Given the description of an element on the screen output the (x, y) to click on. 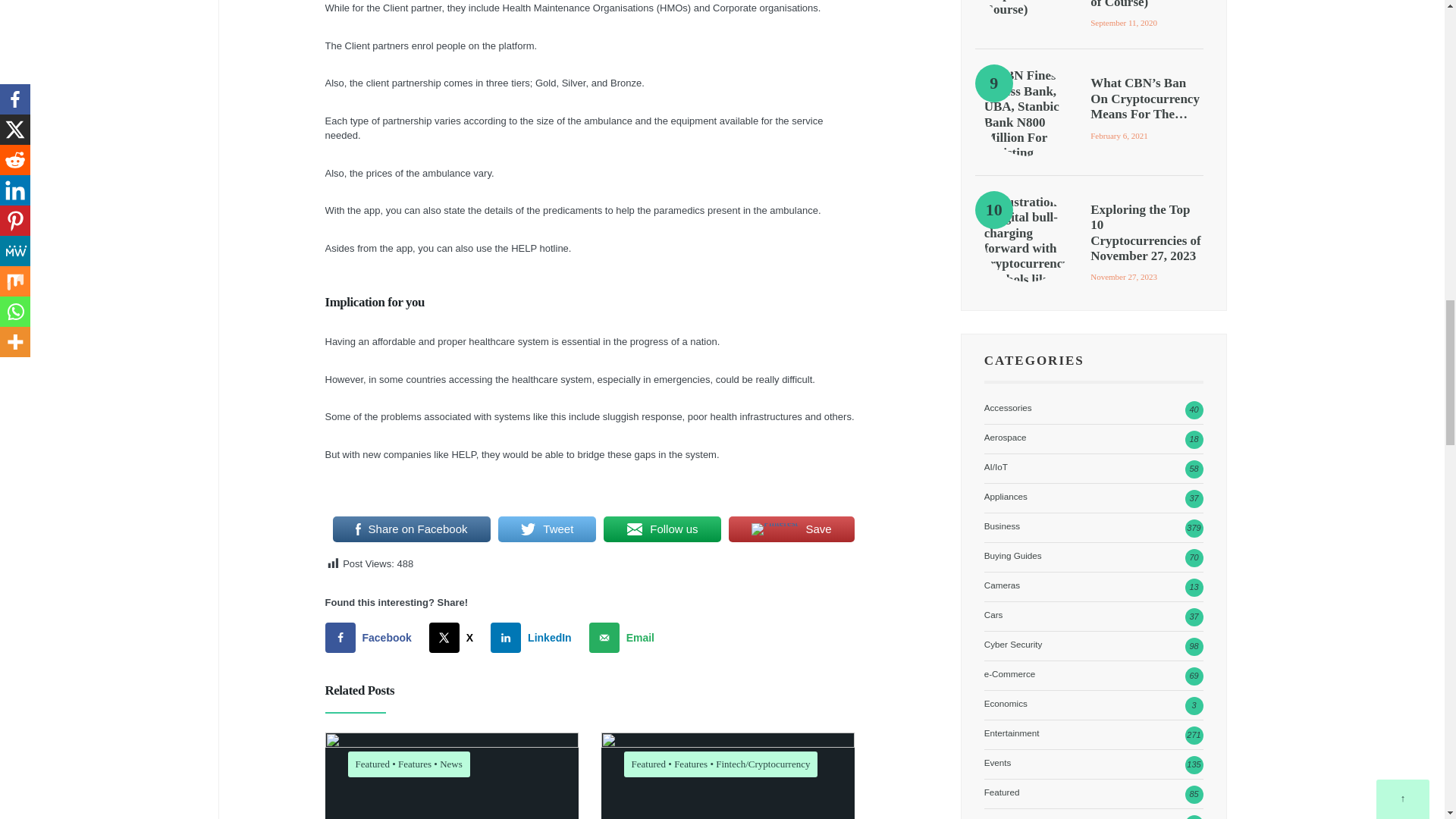
Share on Facebook (370, 637)
Share on LinkedIn (534, 637)
Share on X (454, 637)
Send over email (625, 637)
